Given the description of an element on the screen output the (x, y) to click on. 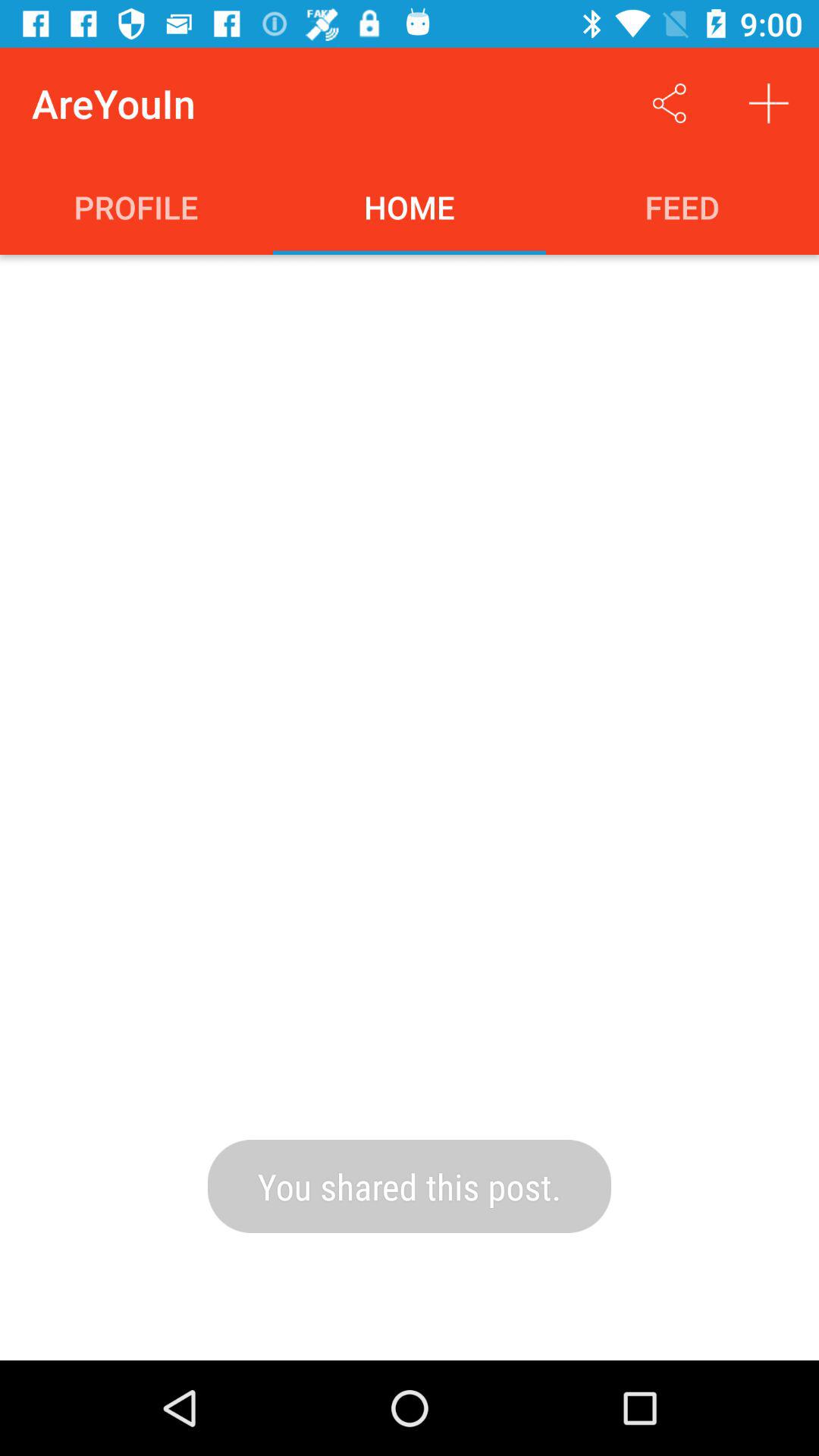
create new post (769, 103)
